Given the description of an element on the screen output the (x, y) to click on. 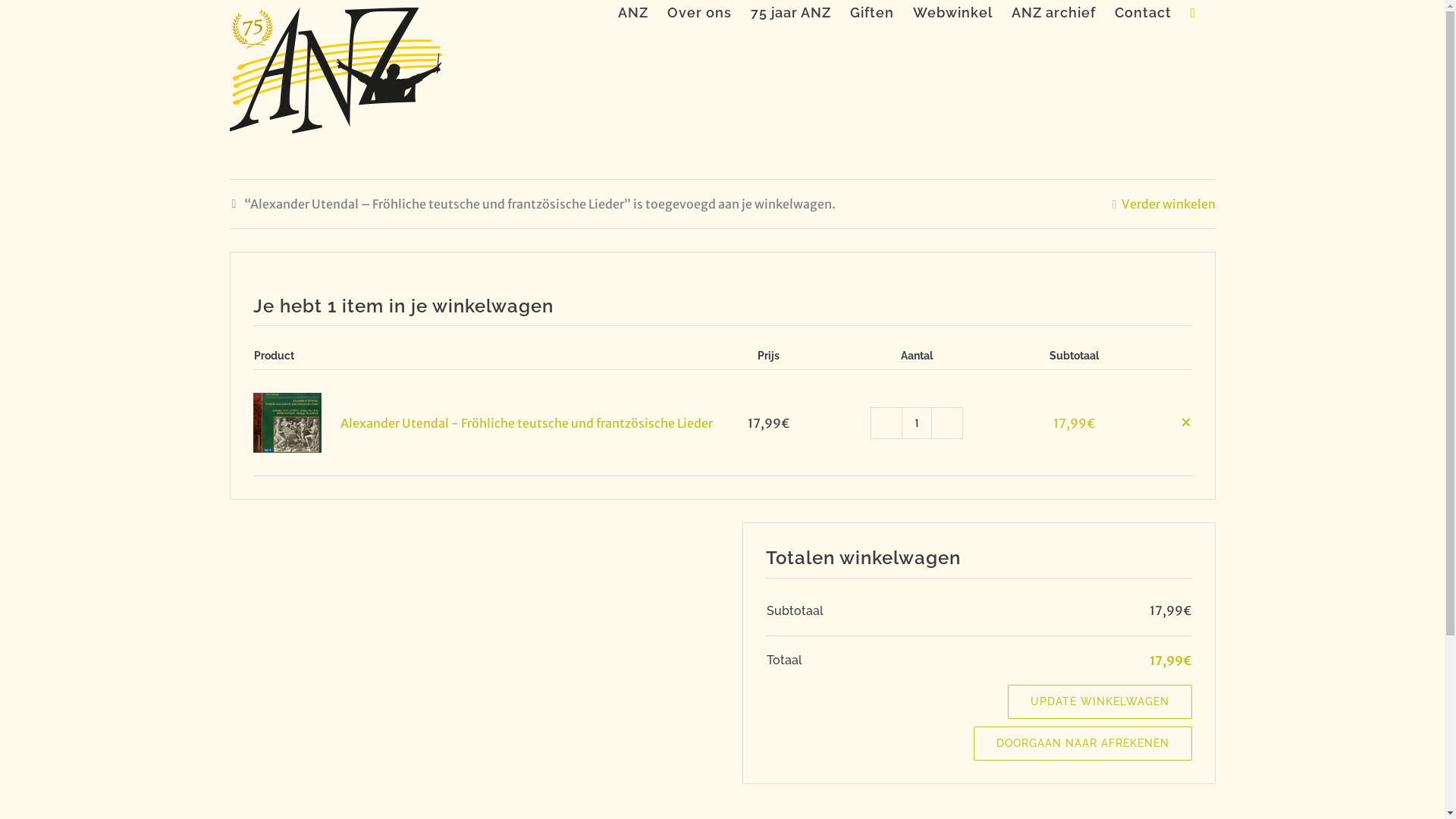
DOORGAAN NAAR AFREKENEN Element type: text (1082, 743)
Update winkelwagen Element type: text (345, 486)
Verder winkelen Element type: text (1163, 203)
Contact Element type: text (1142, 11)
ANZ Element type: text (633, 11)
ANZ archief Element type: text (1053, 11)
Webwinkel Element type: text (952, 11)
UPDATE WINKELWAGEN Element type: text (1099, 701)
75 jaar ANZ Element type: text (790, 11)
Giften Element type: text (872, 11)
Over ons Element type: text (699, 11)
